Given the description of an element on the screen output the (x, y) to click on. 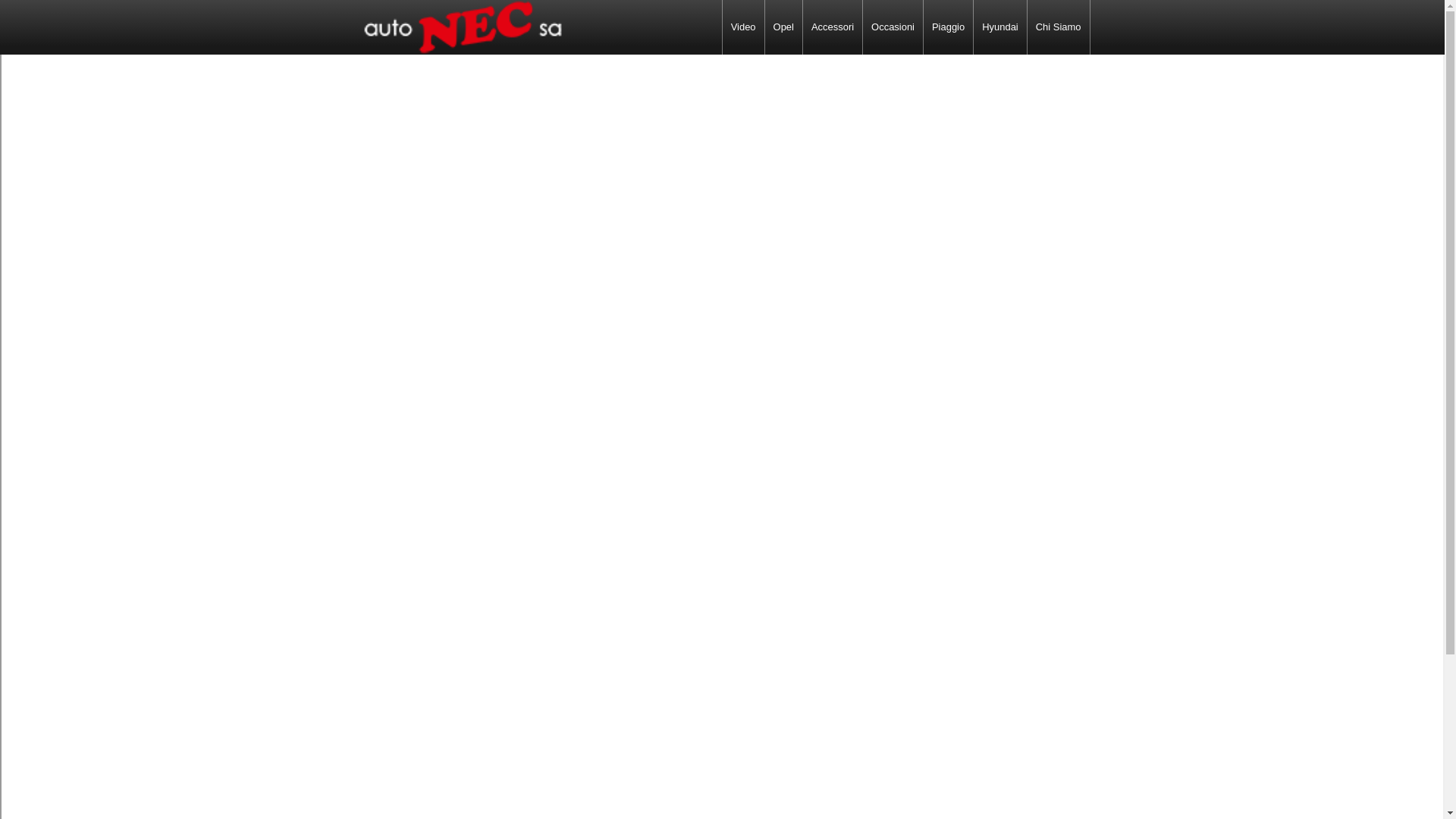
Chi Siamo Element type: text (1058, 27)
Piaggio Element type: text (947, 27)
Video Element type: text (743, 27)
Occasioni Element type: text (892, 27)
Hyundai Element type: text (999, 27)
Accessori Element type: text (832, 27)
Opel Element type: text (783, 27)
